Given the description of an element on the screen output the (x, y) to click on. 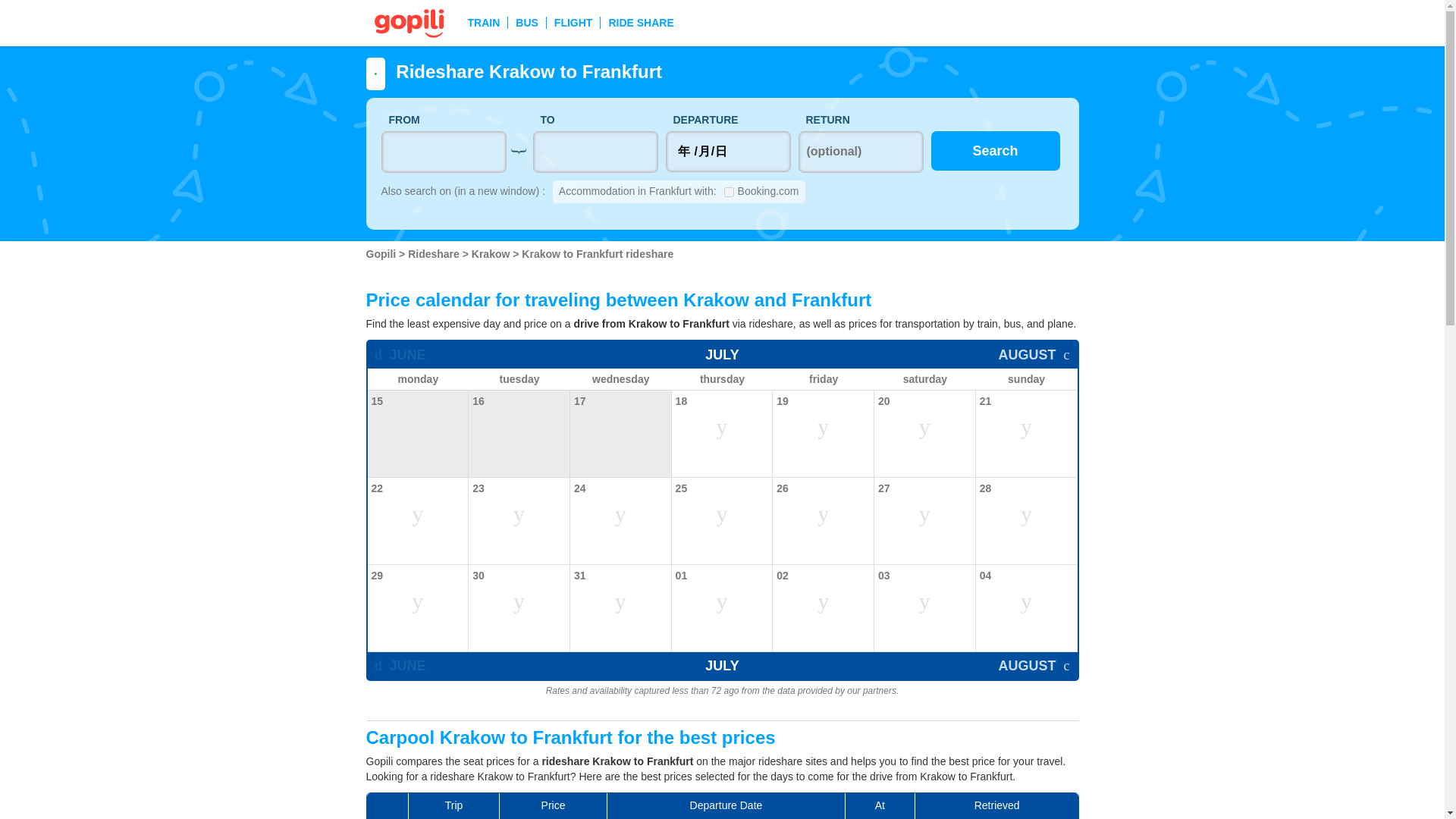
Rideshare (435, 254)
AUGUST   (1032, 665)
Gopili (381, 254)
Krakow to Frankfurt rideshare (596, 254)
  JUNE (399, 354)
AUGUST   (1032, 354)
Krakow (491, 254)
  JUNE (399, 665)
135 (728, 192)
Search (995, 150)
